Given the description of an element on the screen output the (x, y) to click on. 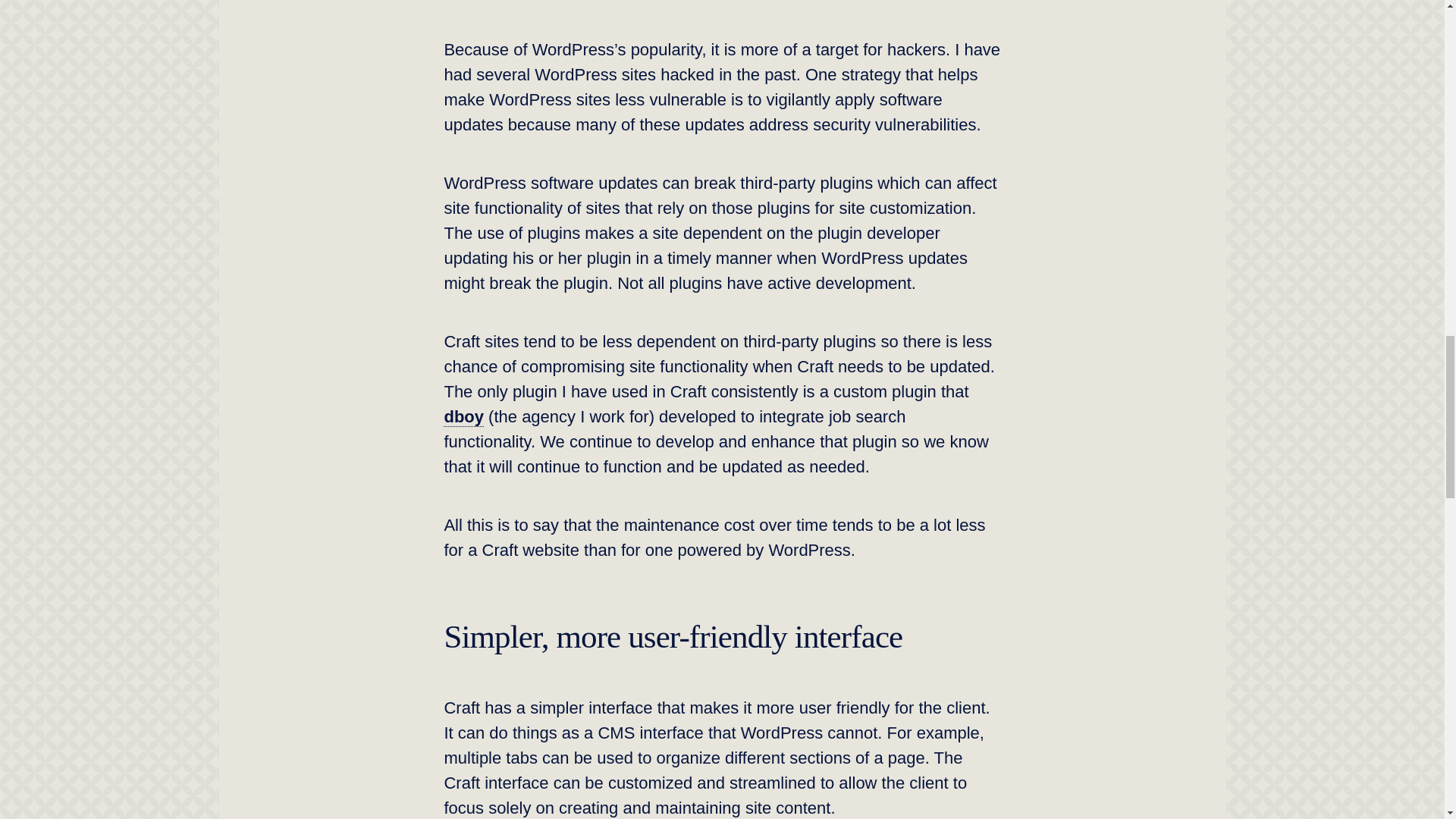
dboy (706, 429)
